Given the description of an element on the screen output the (x, y) to click on. 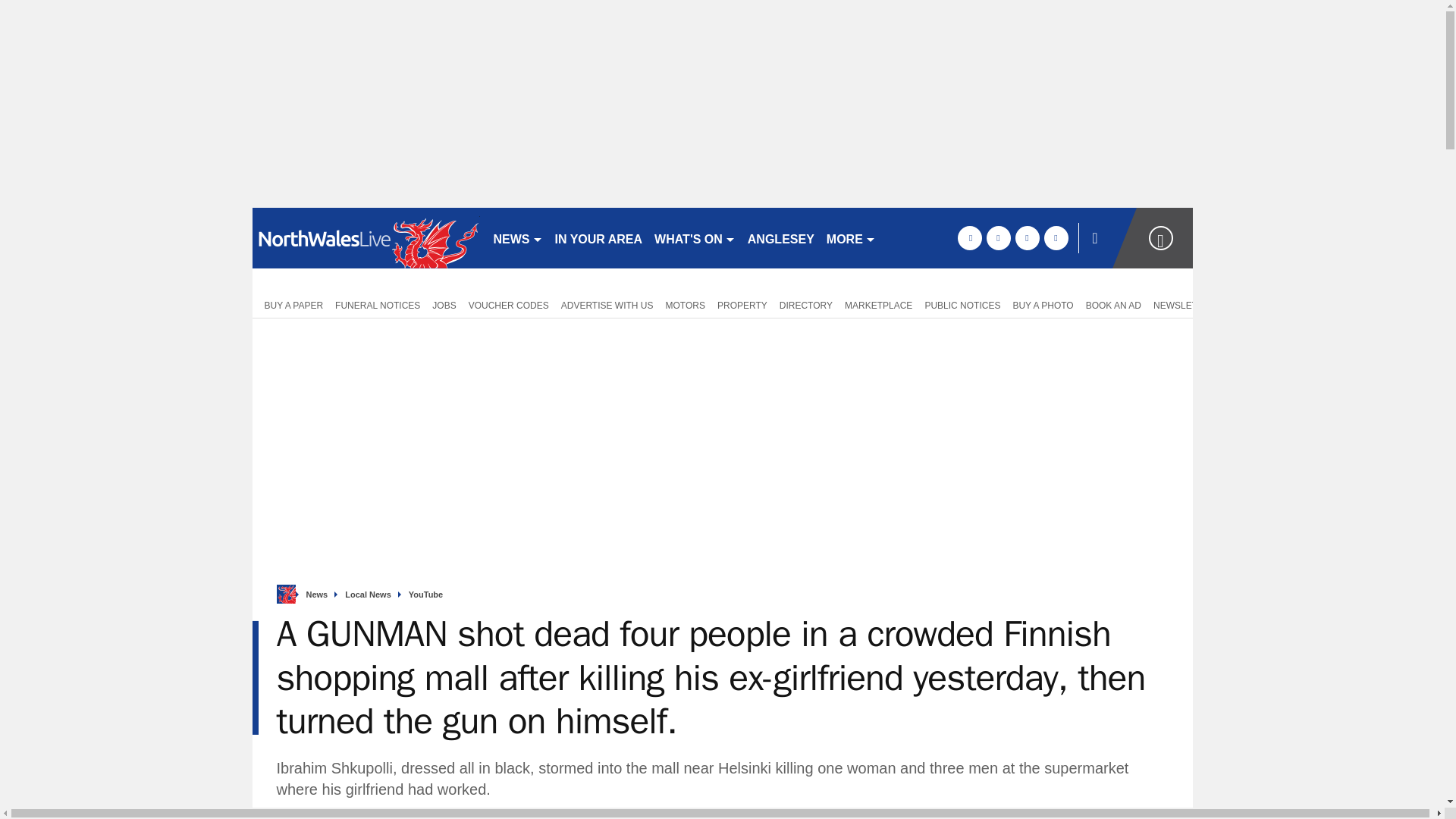
facebook (968, 238)
MOTORS (685, 304)
IN YOUR AREA (598, 238)
pinterest (1026, 238)
NEWS (517, 238)
ADVERTISE WITH US (606, 304)
ANGLESEY (781, 238)
WHAT'S ON (694, 238)
FUNERAL NOTICES (377, 304)
JOBS (443, 304)
twitter (997, 238)
northwales (365, 238)
PROPERTY (742, 304)
VOUCHER CODES (508, 304)
instagram (1055, 238)
